Given the description of an element on the screen output the (x, y) to click on. 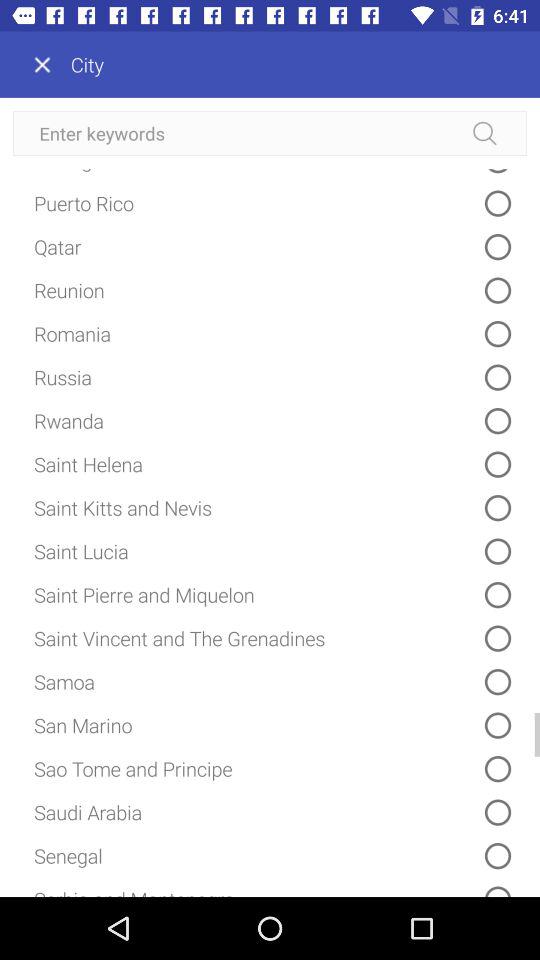
search bar (269, 133)
